Given the description of an element on the screen output the (x, y) to click on. 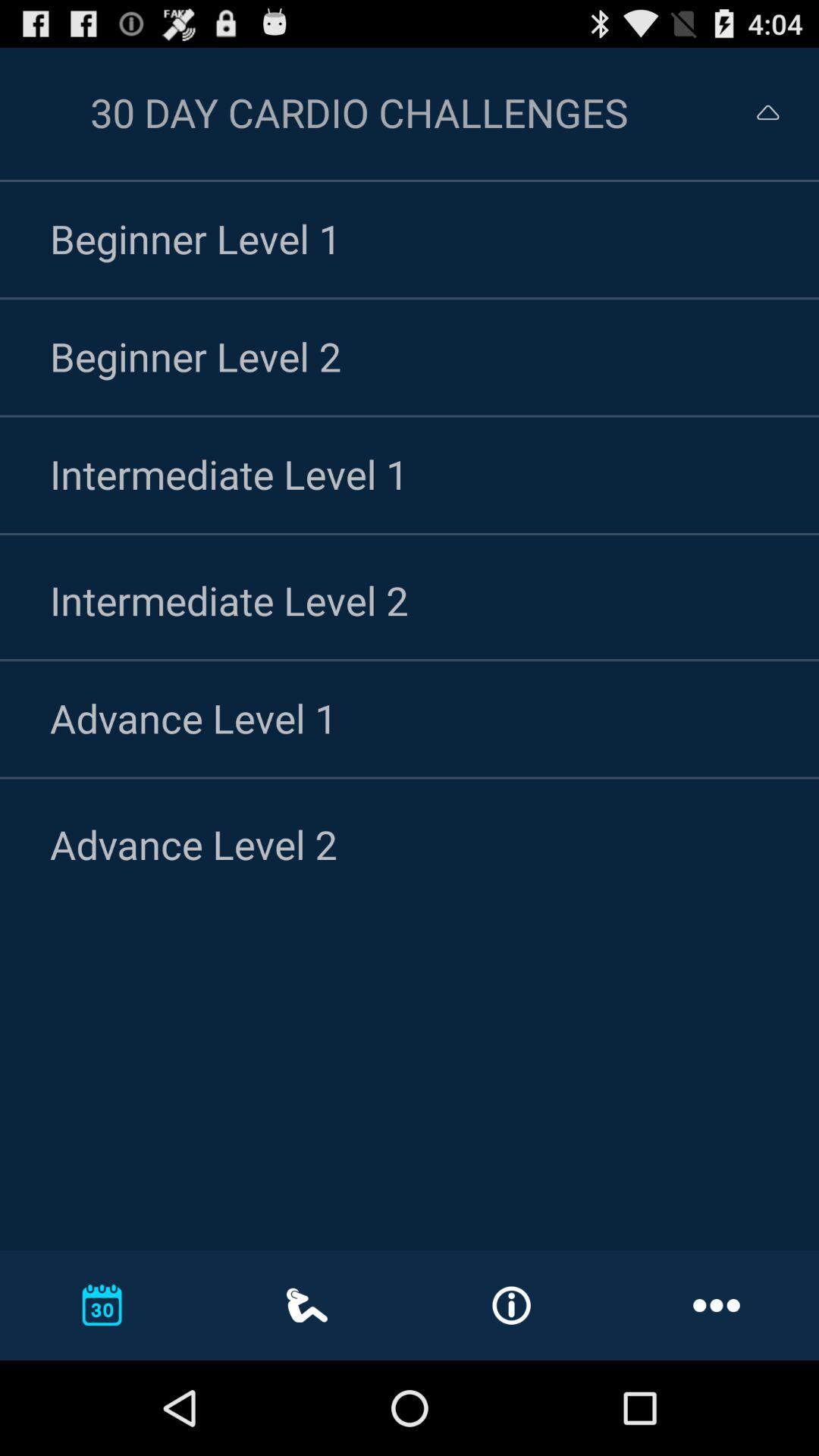
toggle challenges (754, 112)
